Given the description of an element on the screen output the (x, y) to click on. 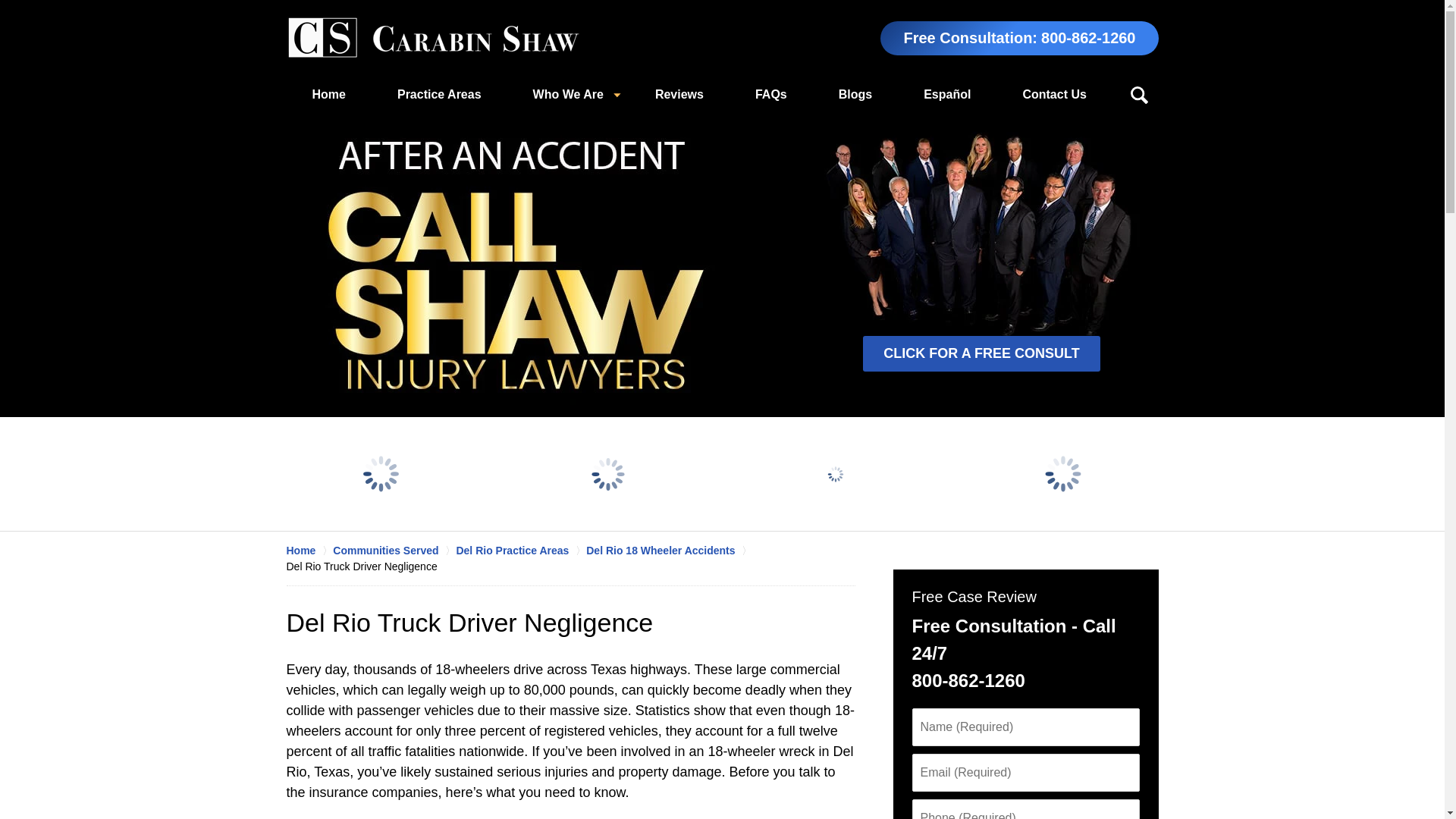
Reviews (678, 94)
Blogs (855, 94)
Del Rio 18 Wheeler Accidents (669, 550)
Val Verde County Trucking Accident Lawyers Carabin Shaw Home (432, 37)
Home (328, 94)
Home (309, 550)
Communities Served (394, 550)
FAQs (770, 94)
Practice Areas (438, 94)
CLICK FOR A FREE CONSULT (981, 353)
Del Rio Practice Areas (520, 550)
Free Case Review (973, 596)
Free Consultation: 800-862-1260 (1018, 38)
Back to Home (432, 37)
Who We Are (567, 94)
